Given the description of an element on the screen output the (x, y) to click on. 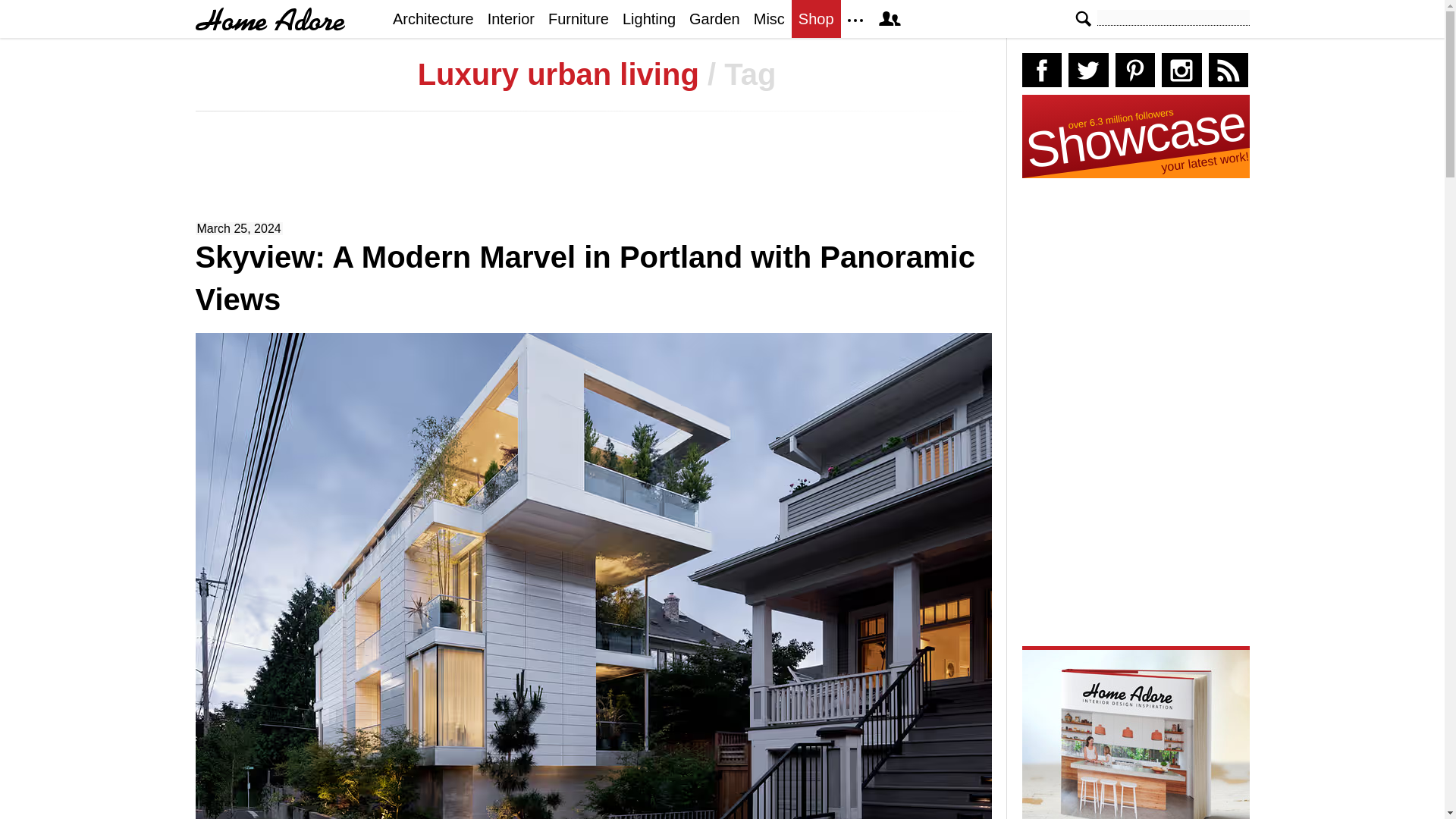
Member Area (889, 17)
Advertisement (596, 172)
Skyview: A Modern Marvel in Portland with Panoramic Views (585, 278)
Misc (769, 18)
Interior (510, 18)
Garden (714, 18)
HomeAdore (270, 19)
Architecture (432, 18)
Shop (816, 18)
